Given the description of an element on the screen output the (x, y) to click on. 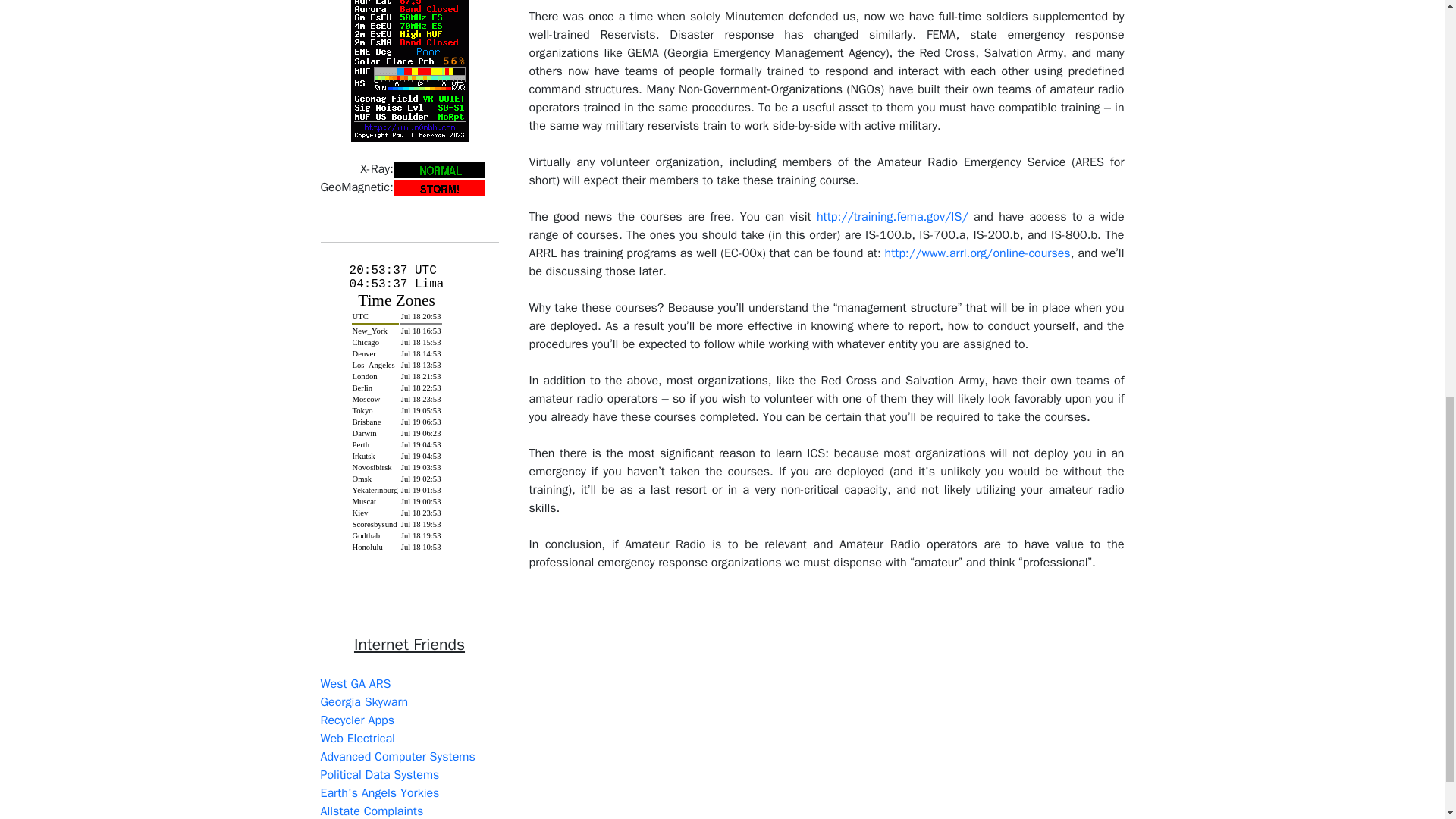
Recycler Apps (356, 720)
West GA ARS (355, 683)
Georgia Skywarn (363, 702)
Advanced Computer Systems (397, 756)
Web Electrical (357, 738)
